Given the description of an element on the screen output the (x, y) to click on. 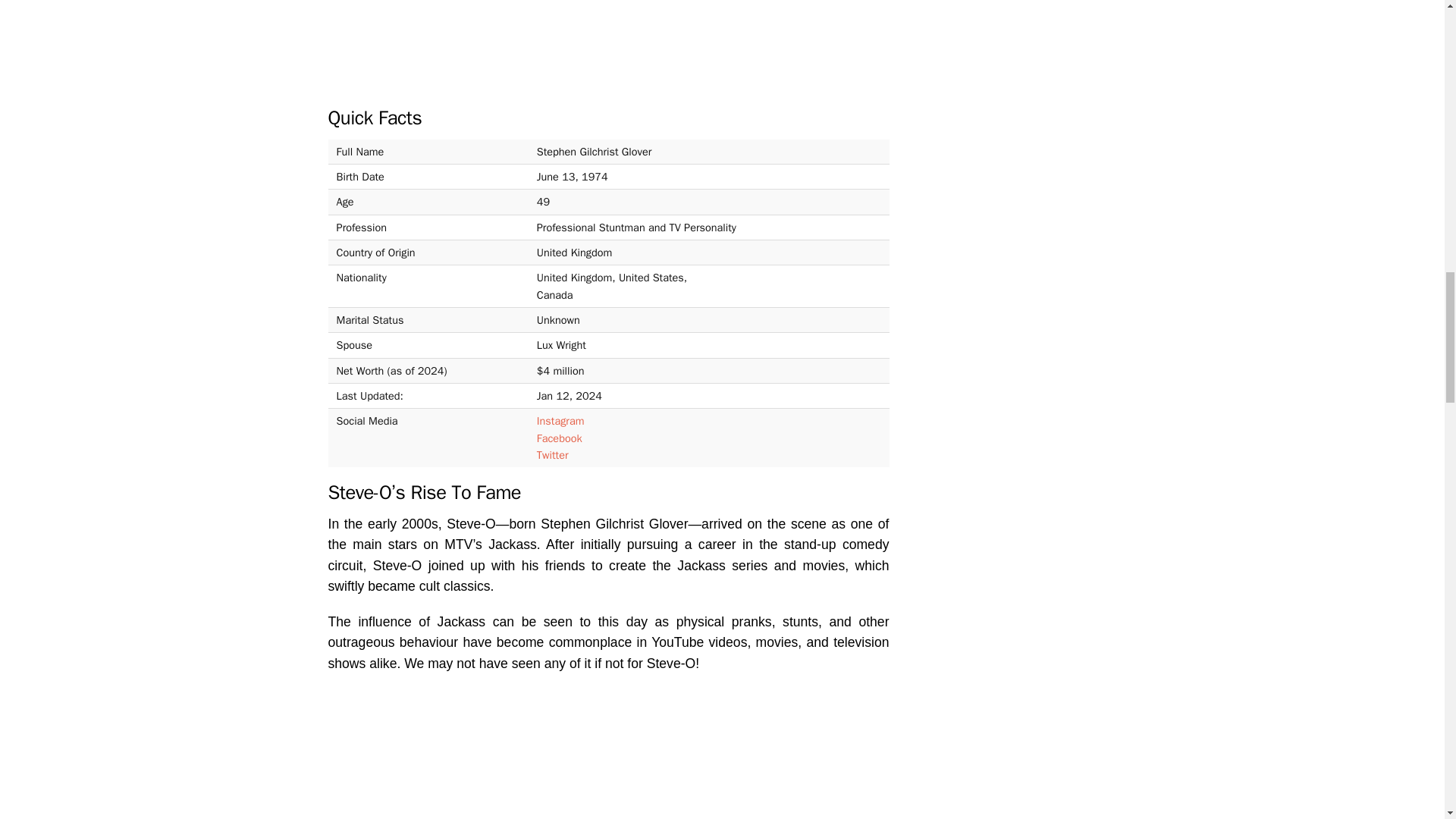
Instagram (561, 420)
Twitter (553, 454)
Facebook (559, 438)
